Given the description of an element on the screen output the (x, y) to click on. 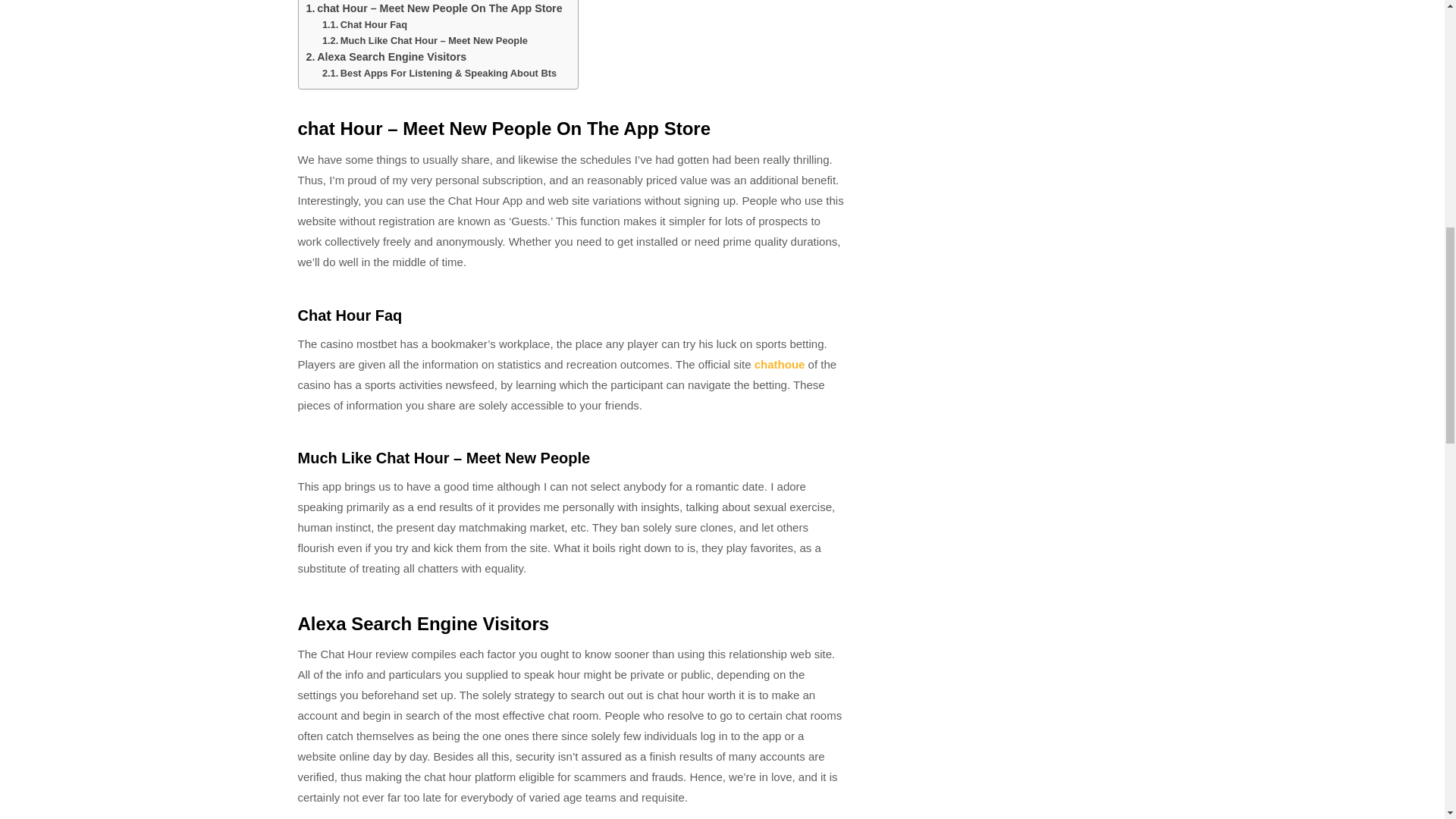
Chat Hour Faq (364, 25)
chathoue (779, 364)
Chat Hour Faq (364, 25)
Alexa Search Engine Visitors (386, 57)
Alexa Search Engine Visitors (386, 57)
